Given the description of an element on the screen output the (x, y) to click on. 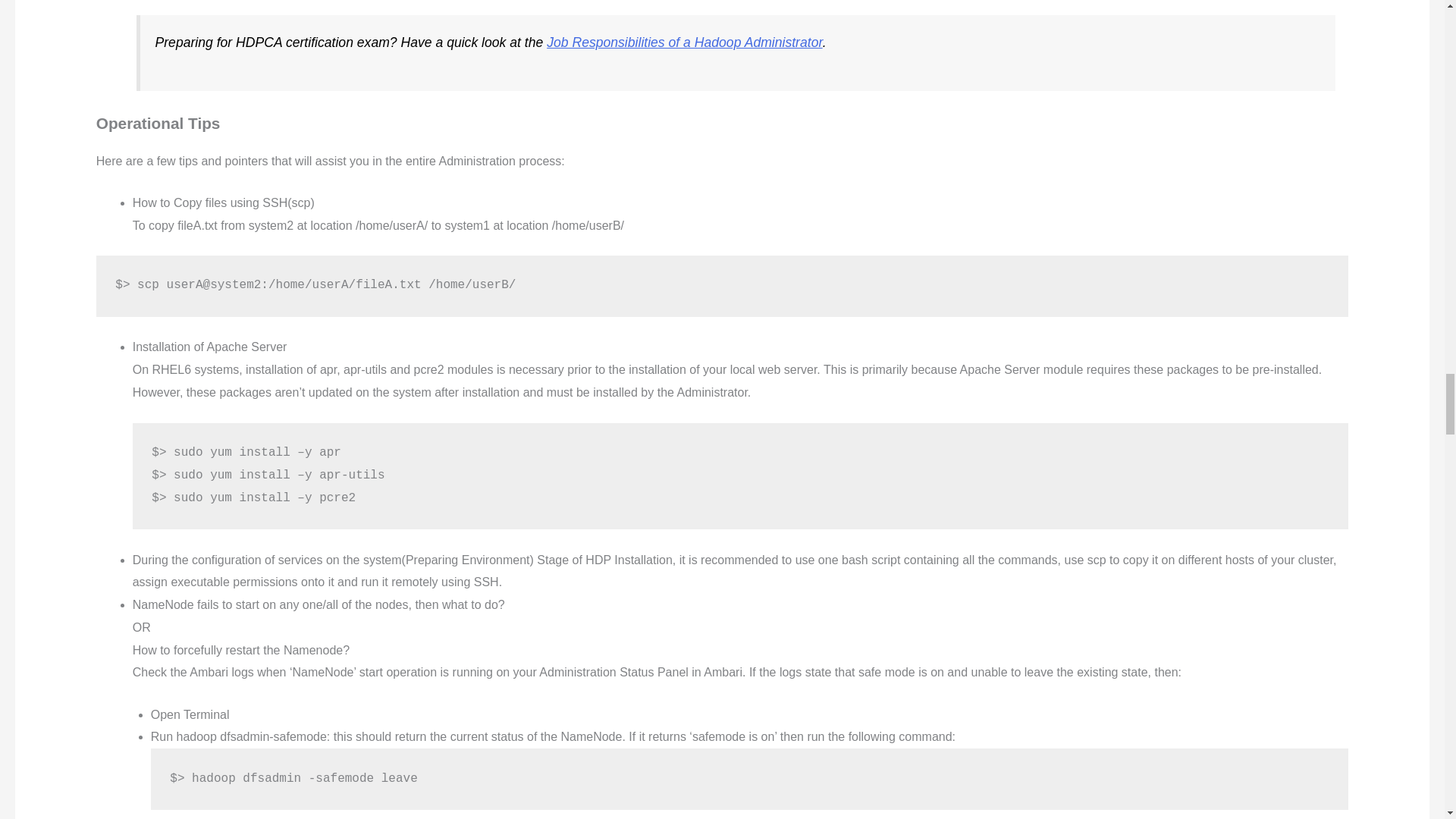
Job Responsibilities of a Hadoop Administrator (684, 42)
